Given the description of an element on the screen output the (x, y) to click on. 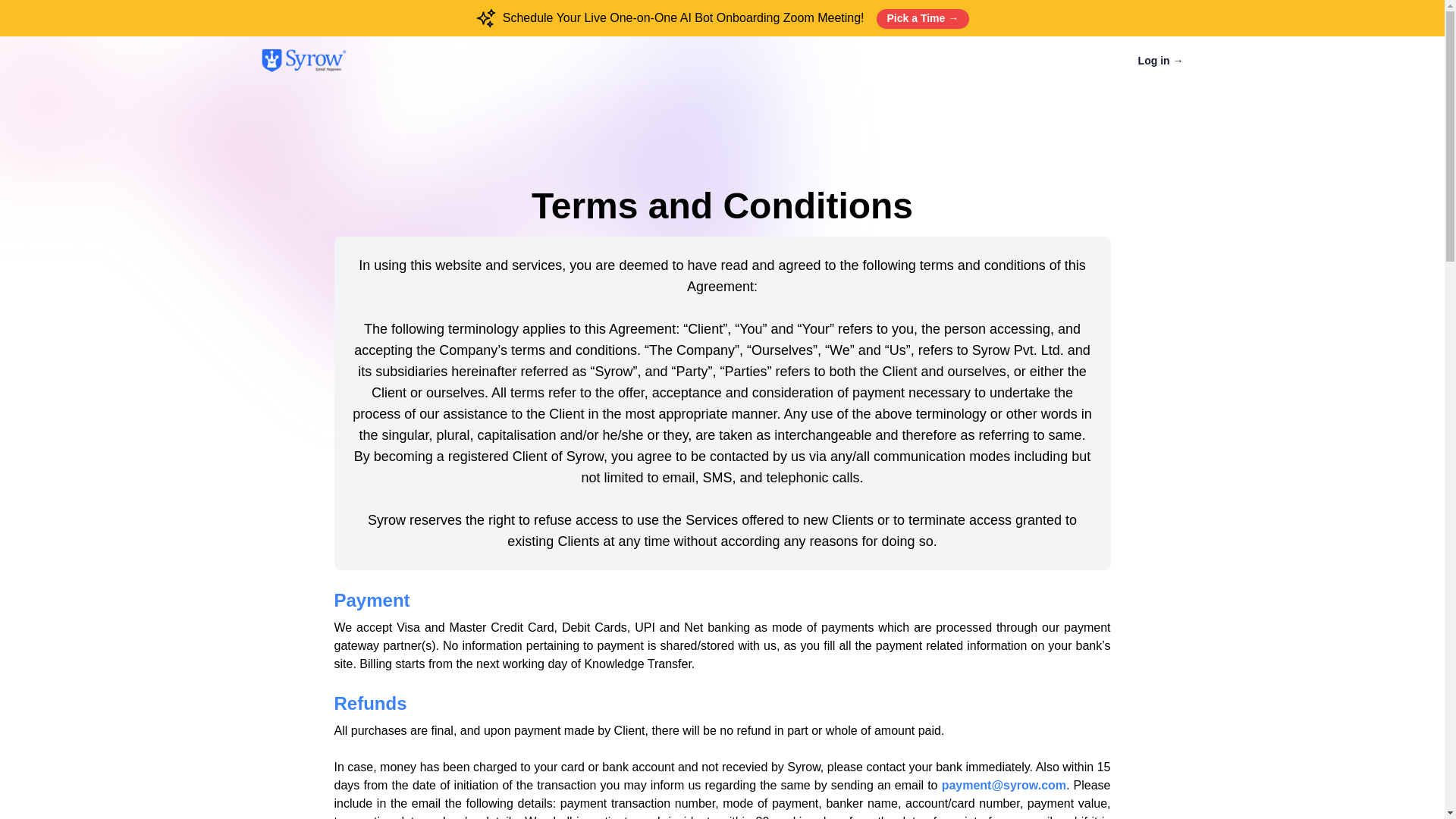
Syrow Care (303, 60)
